Given the description of an element on the screen output the (x, y) to click on. 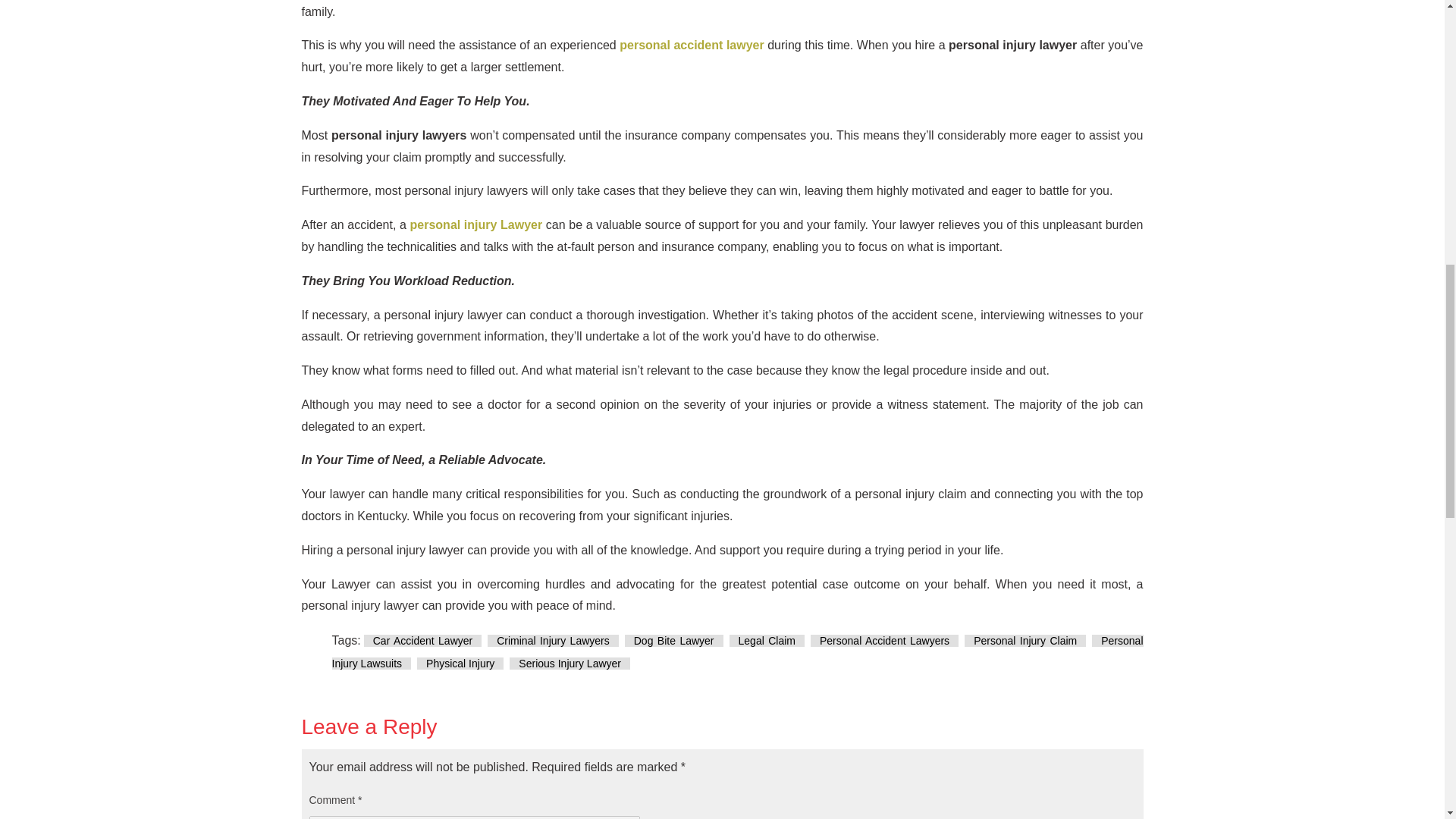
Physical Injury Tag (459, 663)
Personal Injury Claim Tag (1024, 640)
Criminal Injury Lawyers Tag (552, 640)
Personal Injury Lawsuits Tag (736, 651)
Legal Claim Tag (767, 640)
Car Accident Lawyer Tag (422, 640)
Serious Injury Lawyer Tag (569, 663)
Personal Accident Lawyers Tag (884, 640)
Dog Bite Lawyer Tag (673, 640)
